Given the description of an element on the screen output the (x, y) to click on. 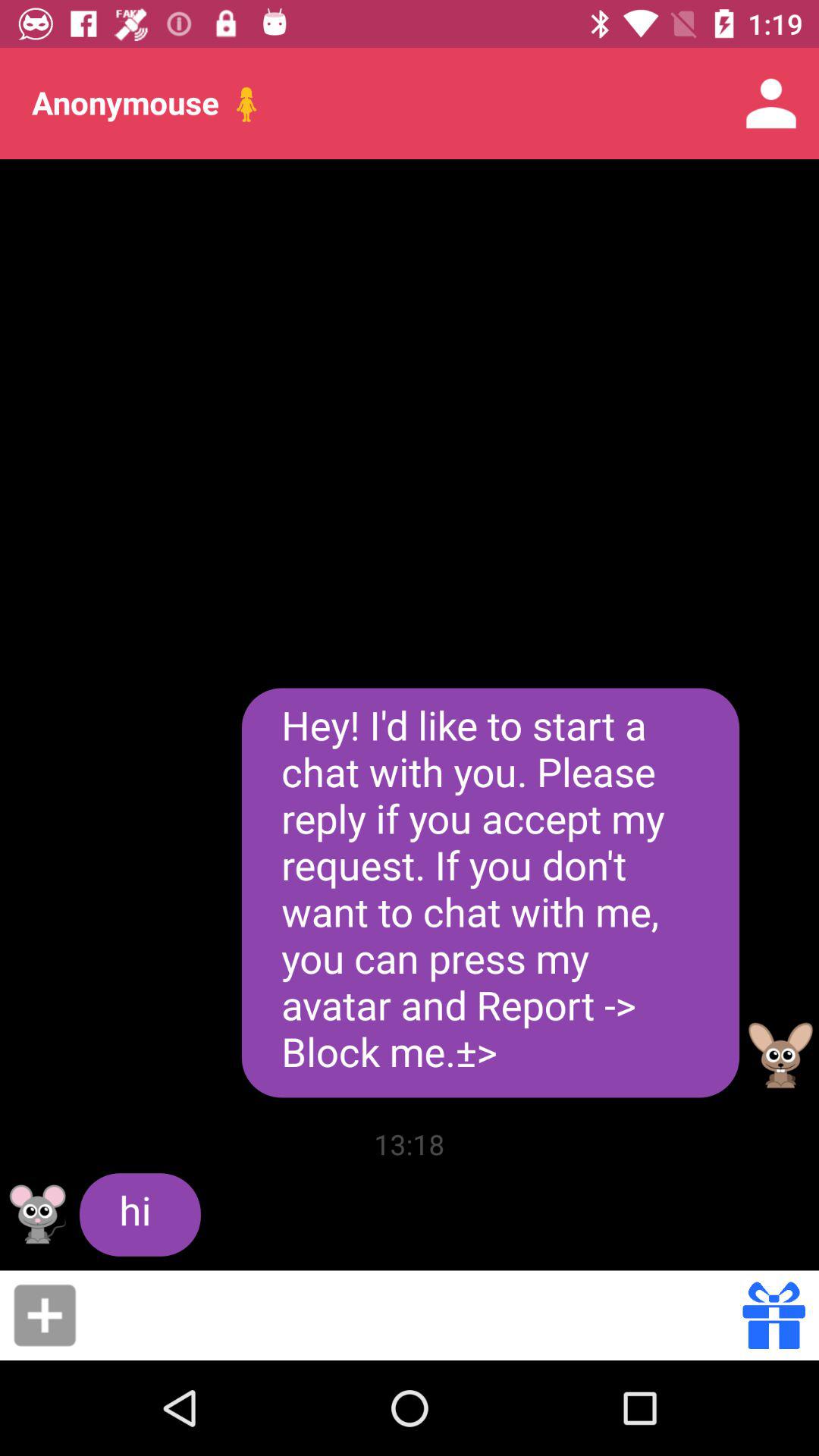
open user profile (38, 1214)
